Given the description of an element on the screen output the (x, y) to click on. 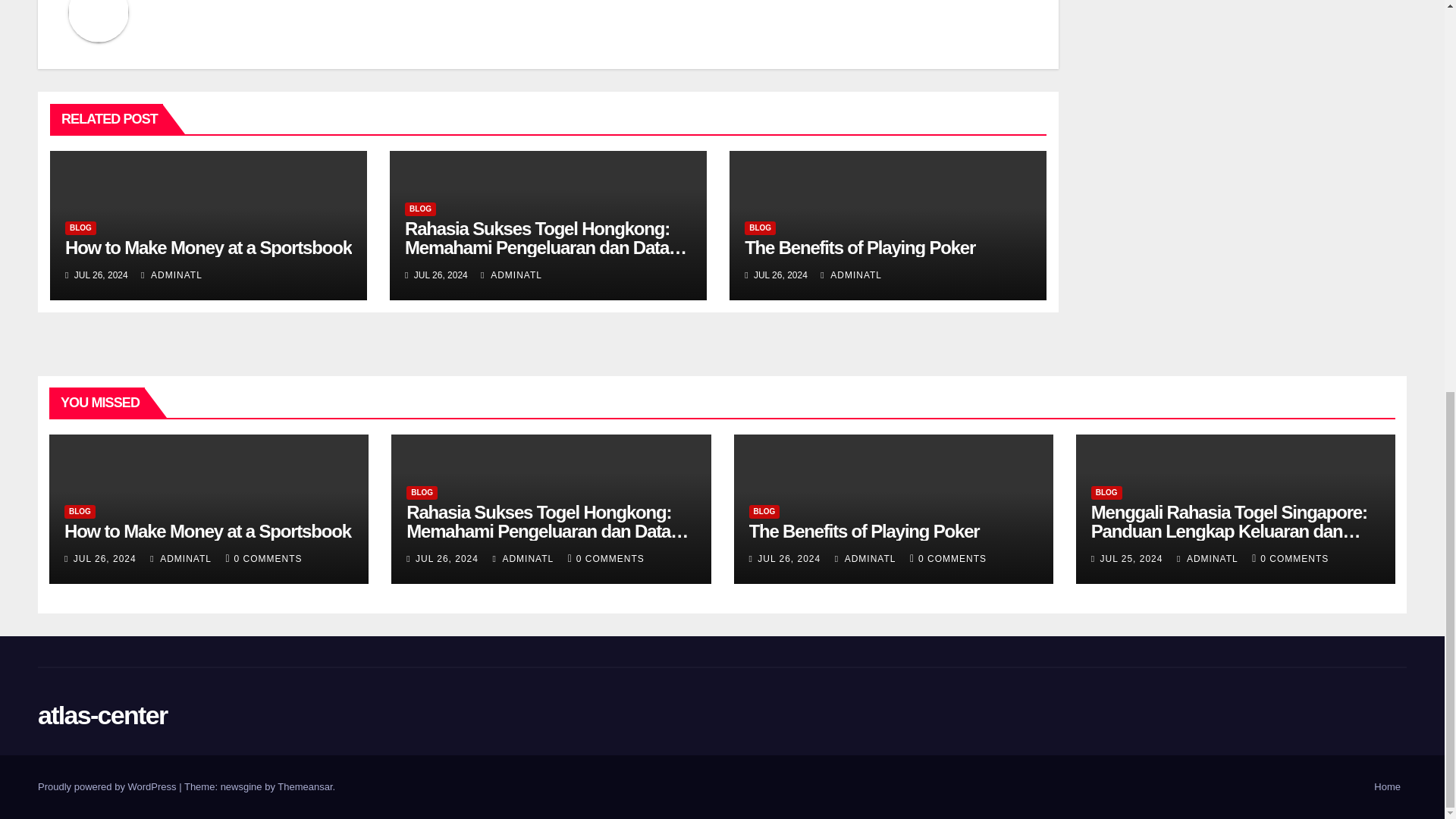
BLOG (419, 209)
Home (1387, 786)
BLOG (760, 228)
ADMINATL (171, 275)
Permalink to: The Benefits of Playing Poker (859, 247)
ADMINATL (851, 275)
Permalink to: The Benefits of Playing Poker (864, 530)
ADMINATL (510, 275)
BLOG (80, 228)
Permalink to: How to Make Money at a Sportsbook (207, 530)
How to Make Money at a Sportsbook (208, 247)
